Given the description of an element on the screen output the (x, y) to click on. 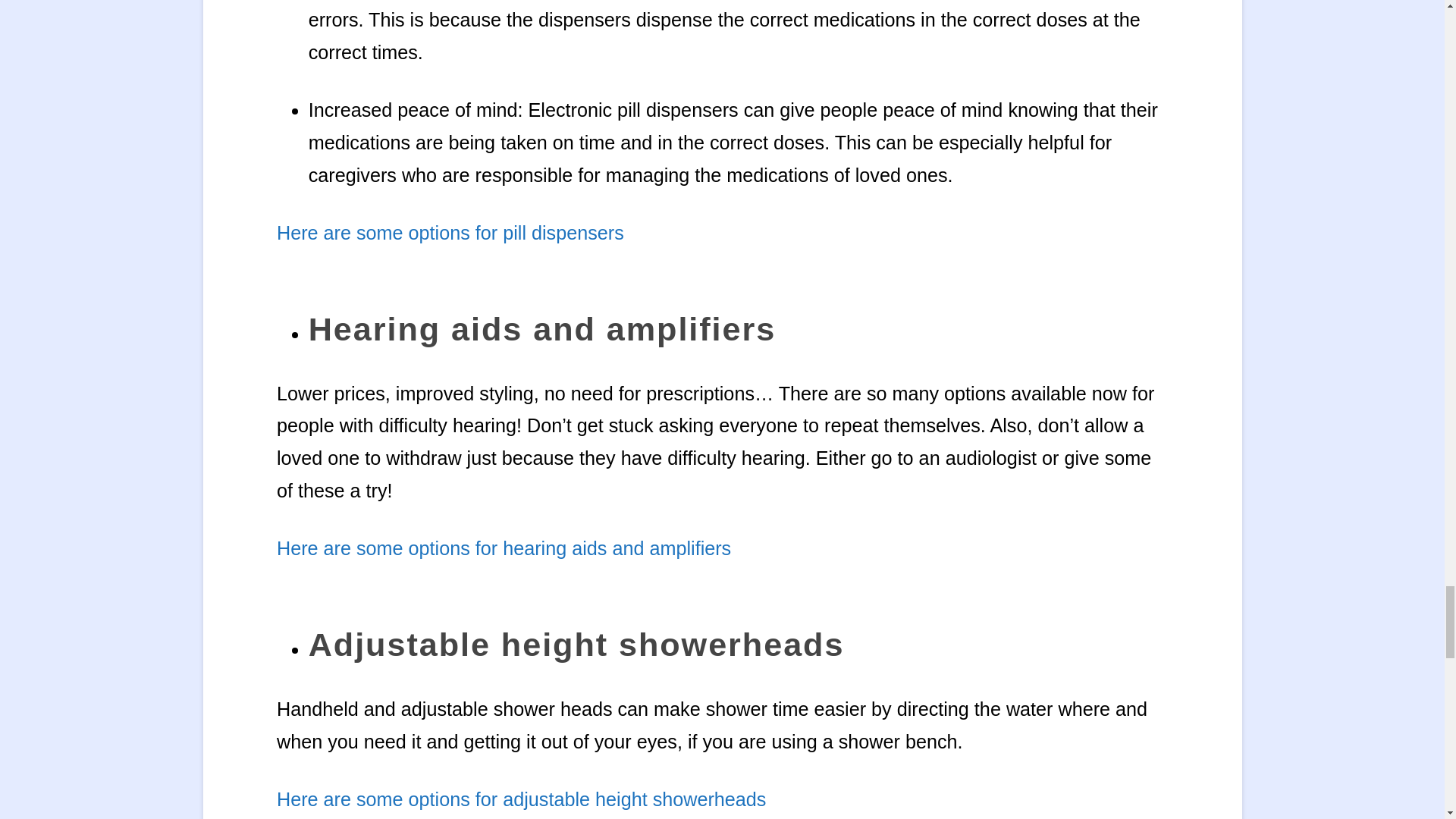
Here are some options for pill dispensers  (452, 232)
Here are some options for hearing aids and amplifiers (503, 547)
